Given the description of an element on the screen output the (x, y) to click on. 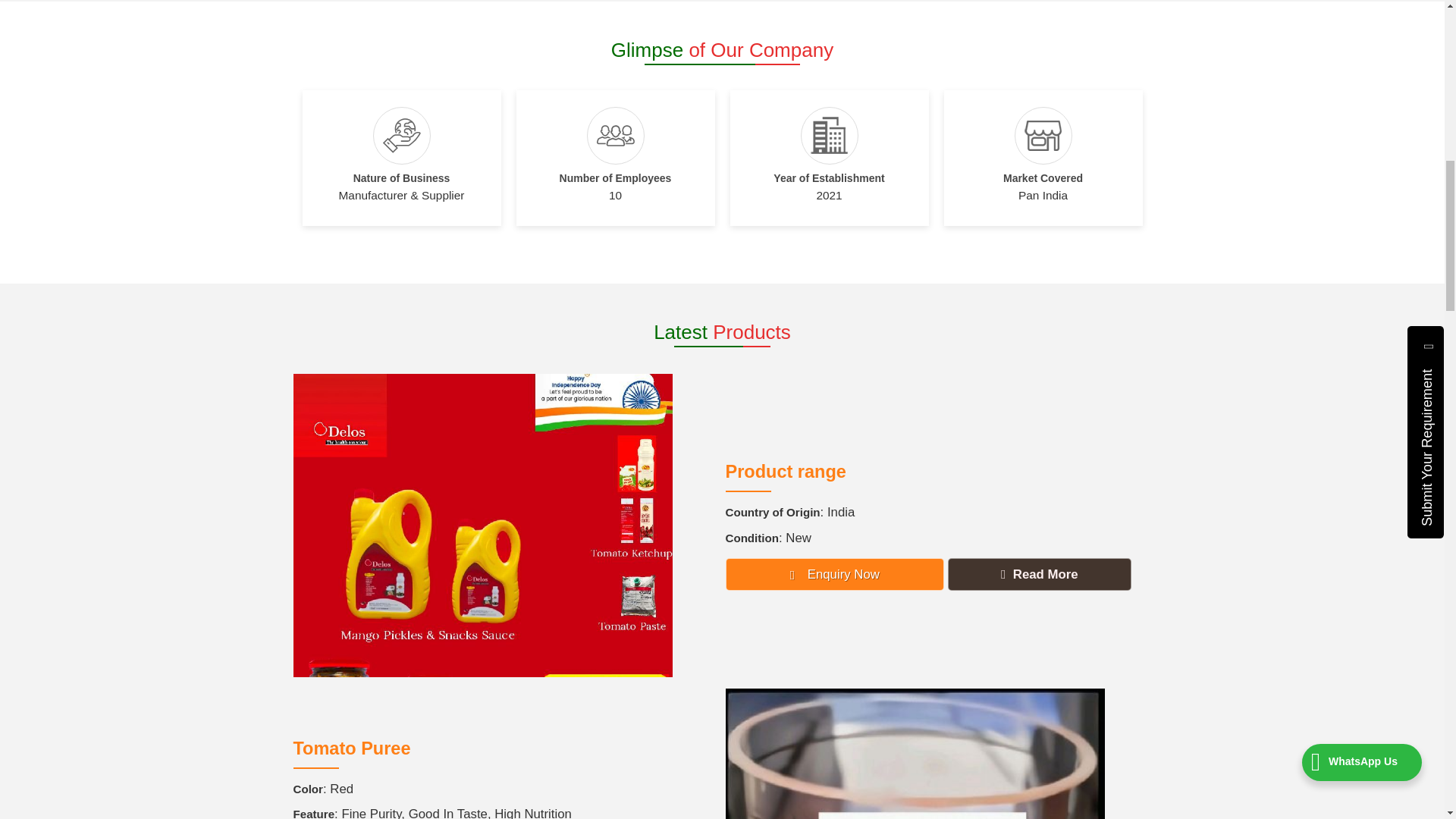
Read More (1039, 573)
Enquiry Now (834, 573)
Product range (785, 471)
Tomato Puree (914, 753)
Enquiry Now (834, 573)
Tomato Puree (351, 748)
Product range (785, 471)
Tomato Puree (351, 748)
